Given the description of an element on the screen output the (x, y) to click on. 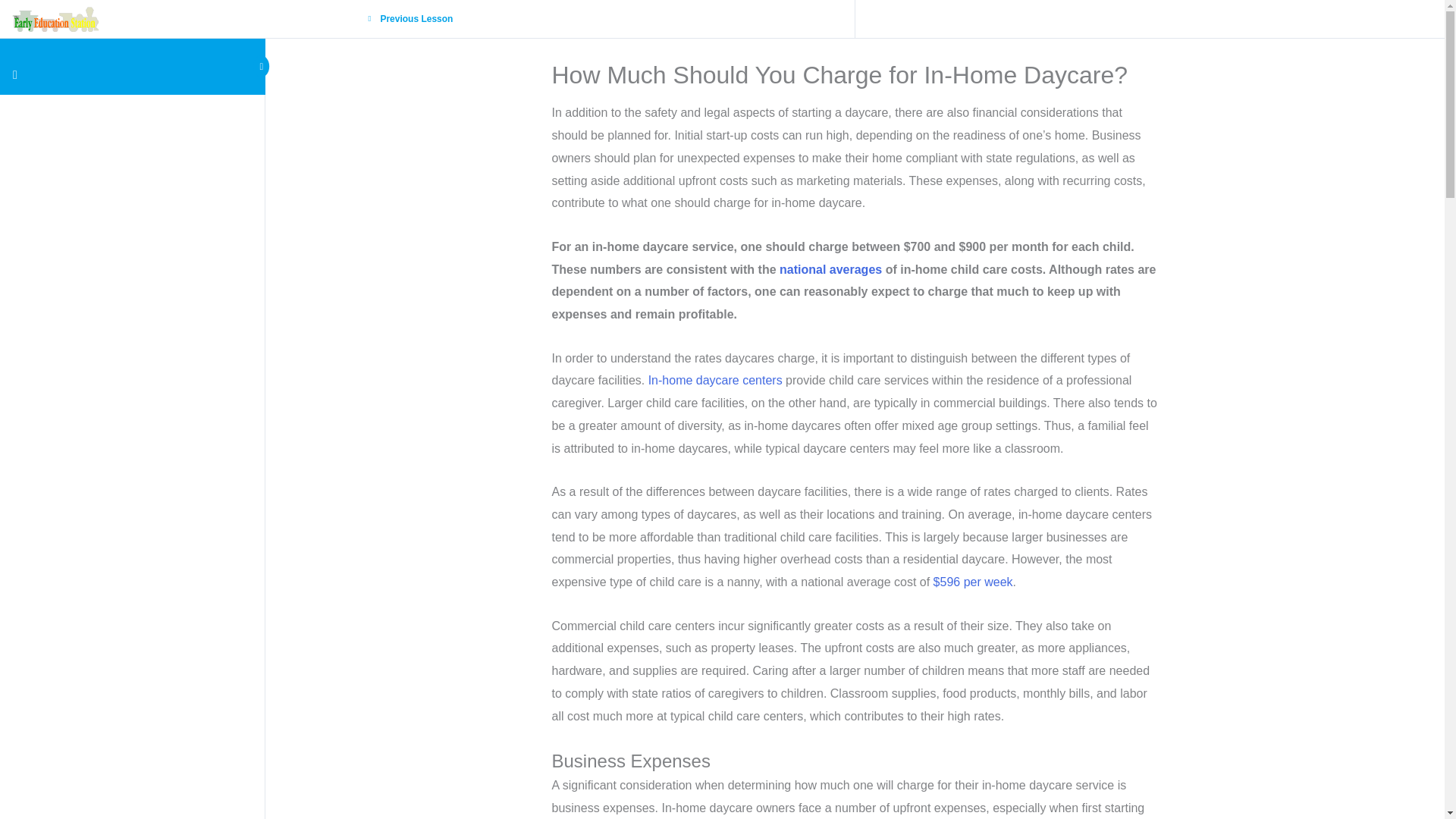
Previous Lesson (414, 19)
In-home daycare centers (715, 379)
national averages (830, 269)
